Given the description of an element on the screen output the (x, y) to click on. 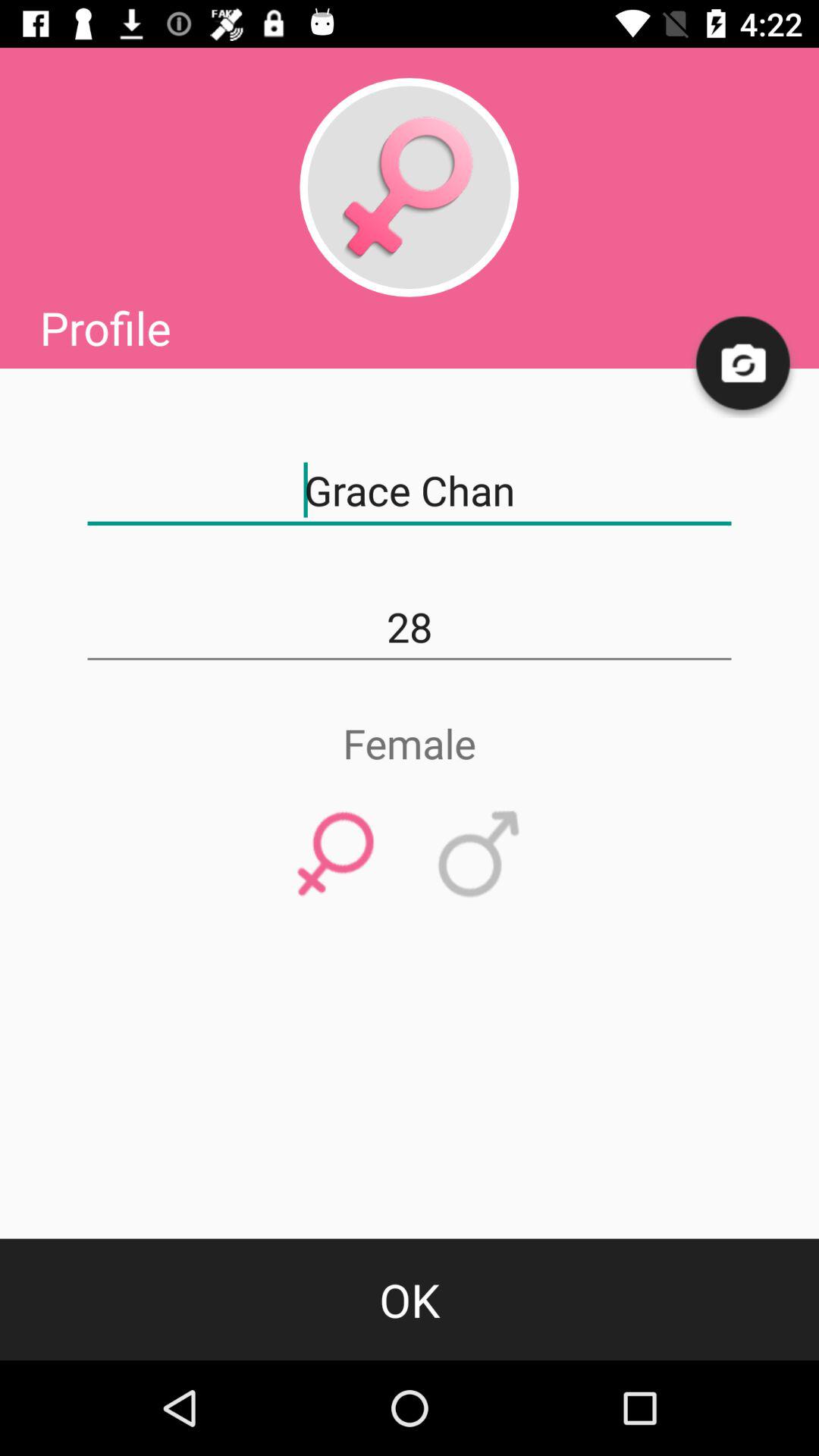
profile photo (408, 186)
